Given the description of an element on the screen output the (x, y) to click on. 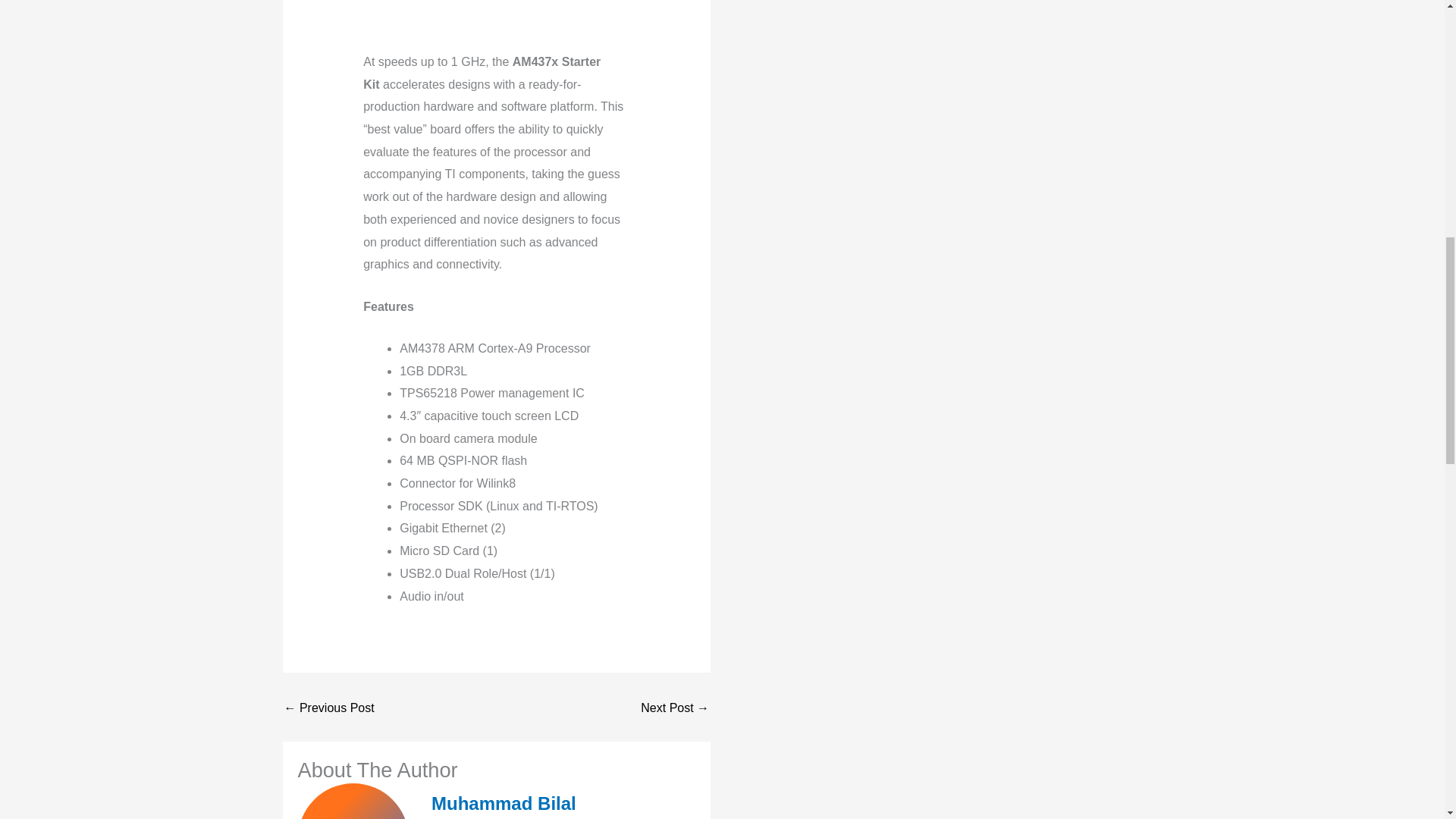
Raspberry Pi 4 cooling fan solutions explored (674, 707)
Energy Monitoring through a Raspberry Pi (328, 707)
